Given the description of an element on the screen output the (x, y) to click on. 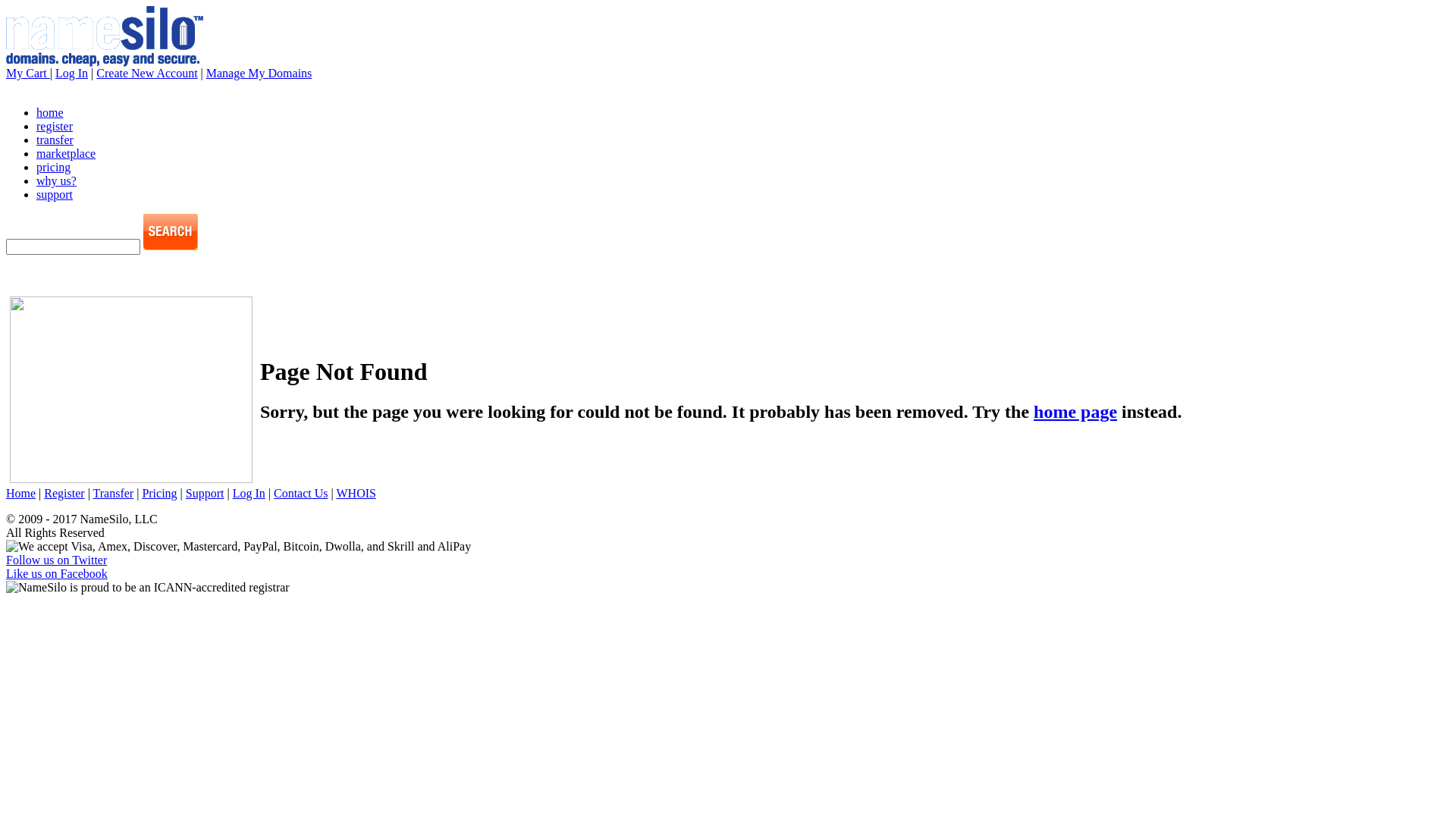
My Cart Element type: text (28, 72)
Register Element type: text (63, 492)
Log In Element type: text (248, 492)
Follow us on Twitter Element type: text (56, 559)
Create New Account Element type: text (146, 72)
Contact Us Element type: text (300, 492)
Transfer Element type: text (113, 492)
Support Element type: text (204, 492)
Log In Element type: text (71, 72)
Pricing Element type: text (158, 492)
Manage My Domains Element type: text (259, 72)
register Element type: text (54, 125)
NameSilo is proud to be an ICANN-accredited registrar Element type: hover (147, 587)
Home Element type: text (20, 492)
support Element type: text (54, 194)
WHOIS Element type: text (355, 492)
marketplace Element type: text (65, 153)
pricing Element type: text (53, 166)
home Element type: text (49, 112)
transfer Element type: text (54, 139)
why us? Element type: text (56, 180)
home page Element type: text (1075, 411)
Like us on Facebook Element type: text (56, 573)
